Given the description of an element on the screen output the (x, y) to click on. 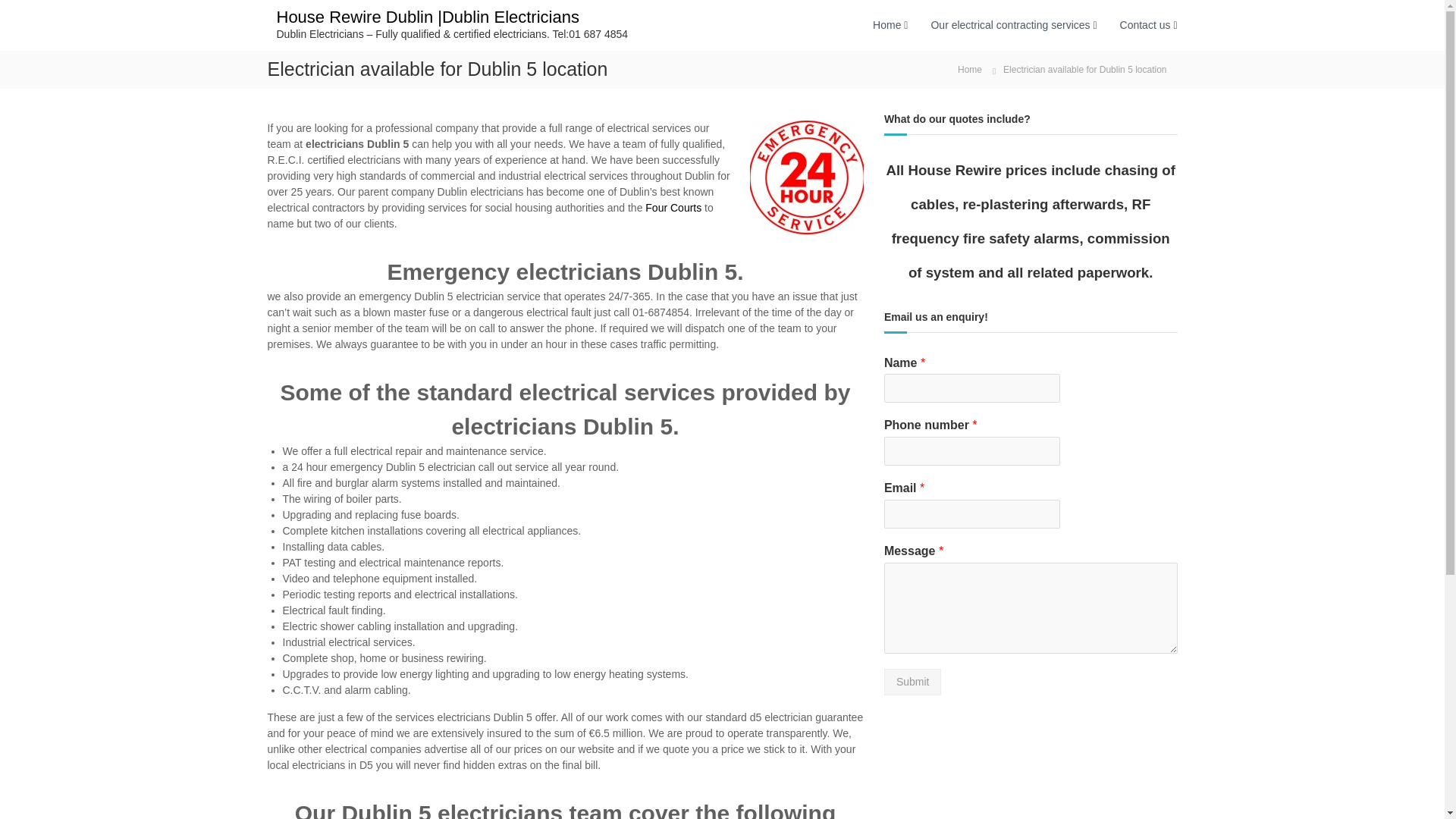
Contact us (1144, 24)
Our electrical contracting services (1009, 24)
Four Courts (673, 207)
Home (969, 69)
Electrical Services in Dublin (1009, 24)
Submit (912, 682)
Home (969, 69)
Home (886, 24)
Dublin Electricians Home (886, 24)
